Given the description of an element on the screen output the (x, y) to click on. 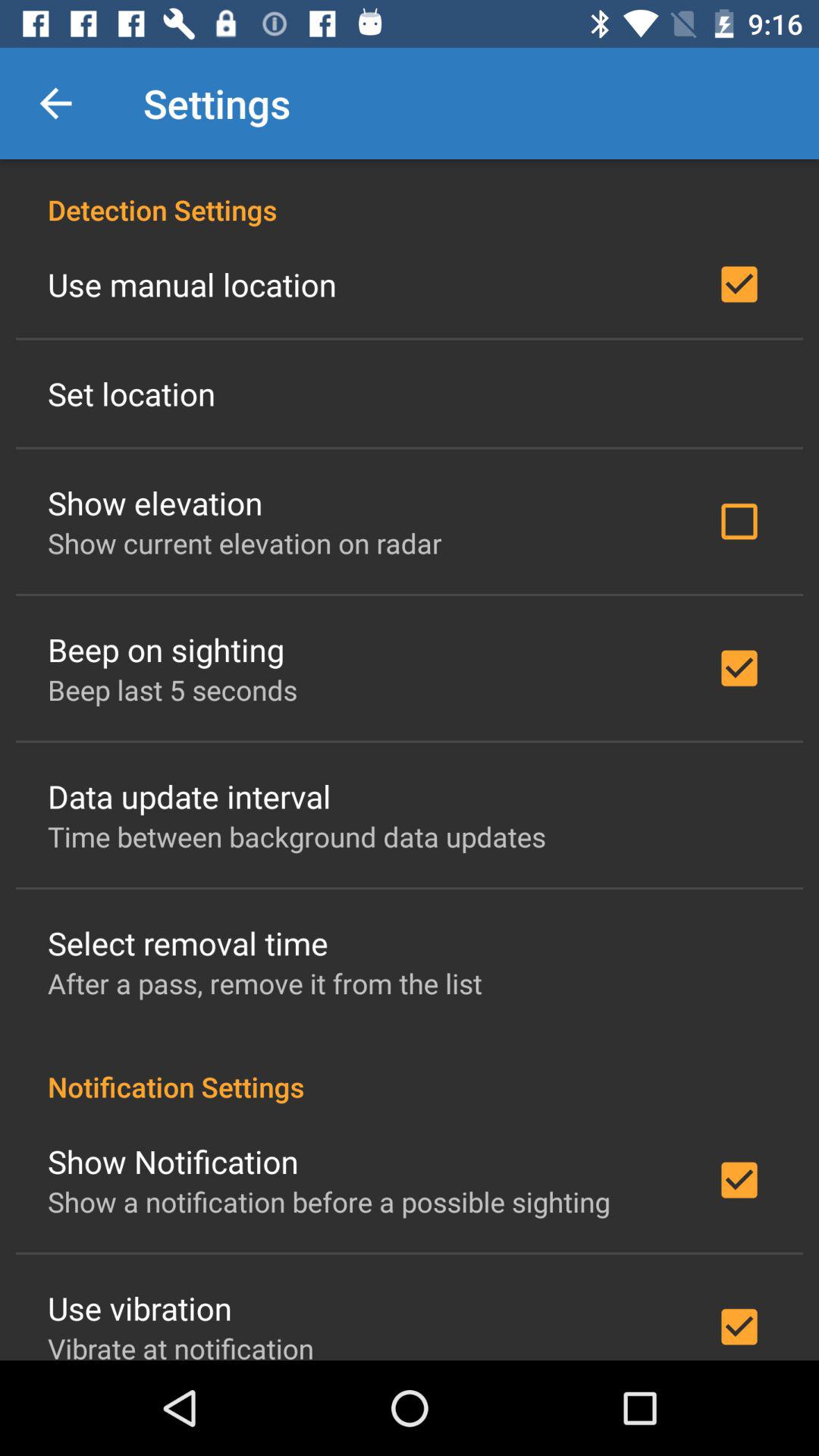
choose the icon above the detection settings item (55, 103)
